Given the description of an element on the screen output the (x, y) to click on. 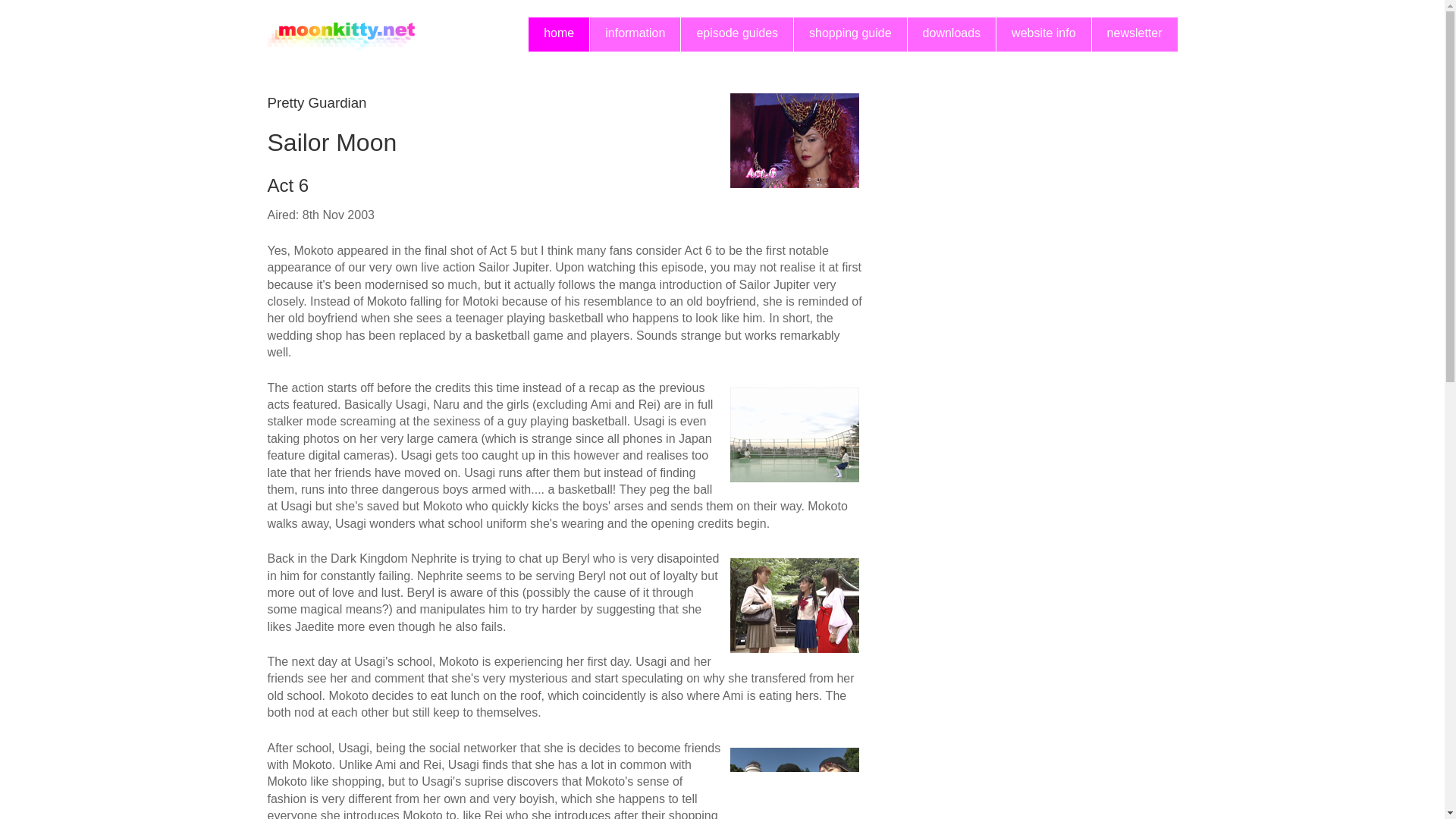
website info (1042, 34)
home (558, 34)
Pretty Guardian Sailor Moon:  (794, 140)
Pretty Guardian Sailor Moon:  (794, 783)
Pretty Guardian Sailor Moon:  (794, 604)
information (634, 34)
shopping guide (850, 34)
downloads (951, 34)
Pretty Guardian Sailor Moon:  (794, 434)
episode guides (737, 34)
